Given the description of an element on the screen output the (x, y) to click on. 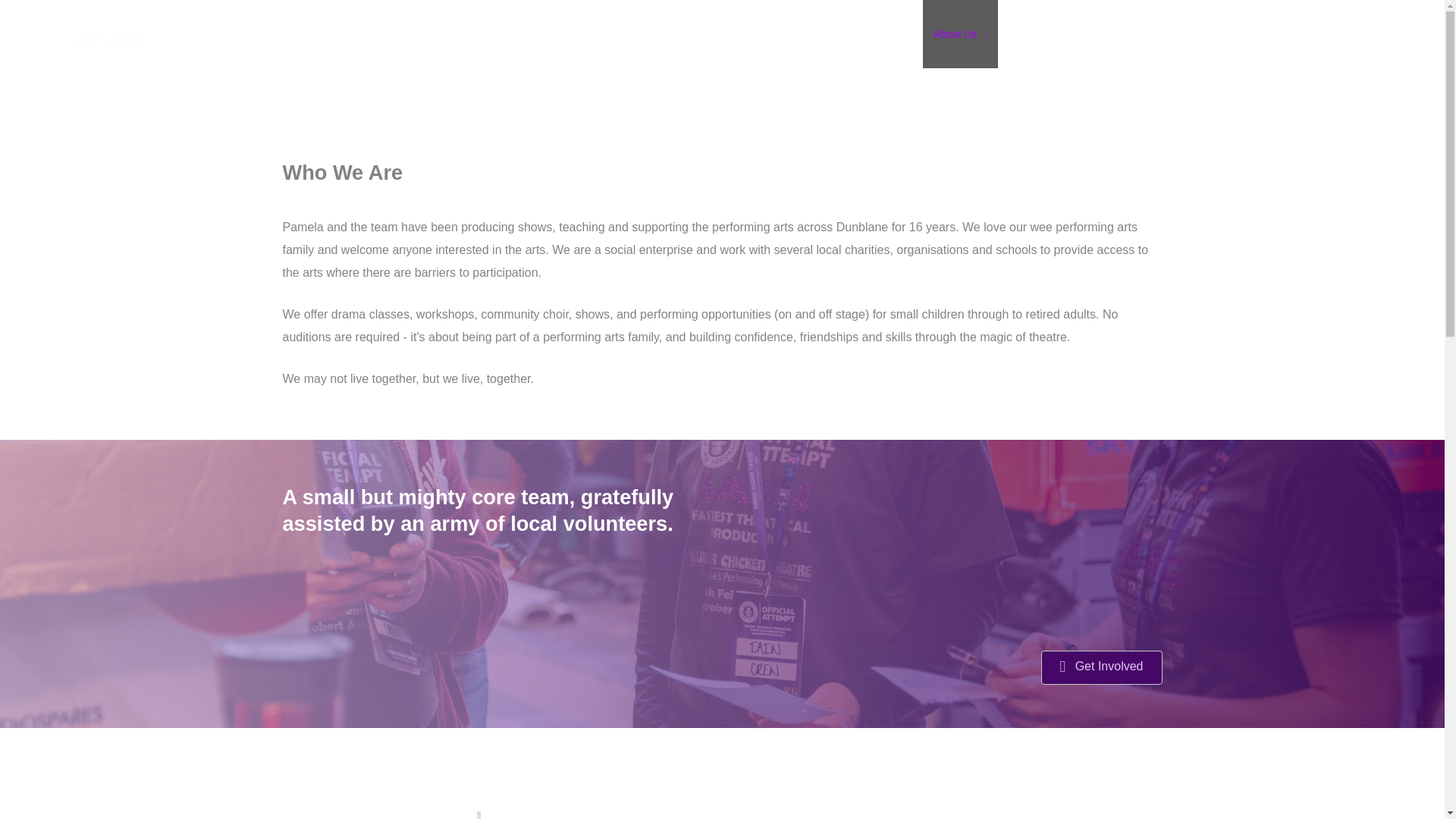
Take Part (1035, 33)
Shows (1106, 33)
Support Us (1180, 33)
My Account (1323, 33)
About Us (960, 33)
